Given the description of an element on the screen output the (x, y) to click on. 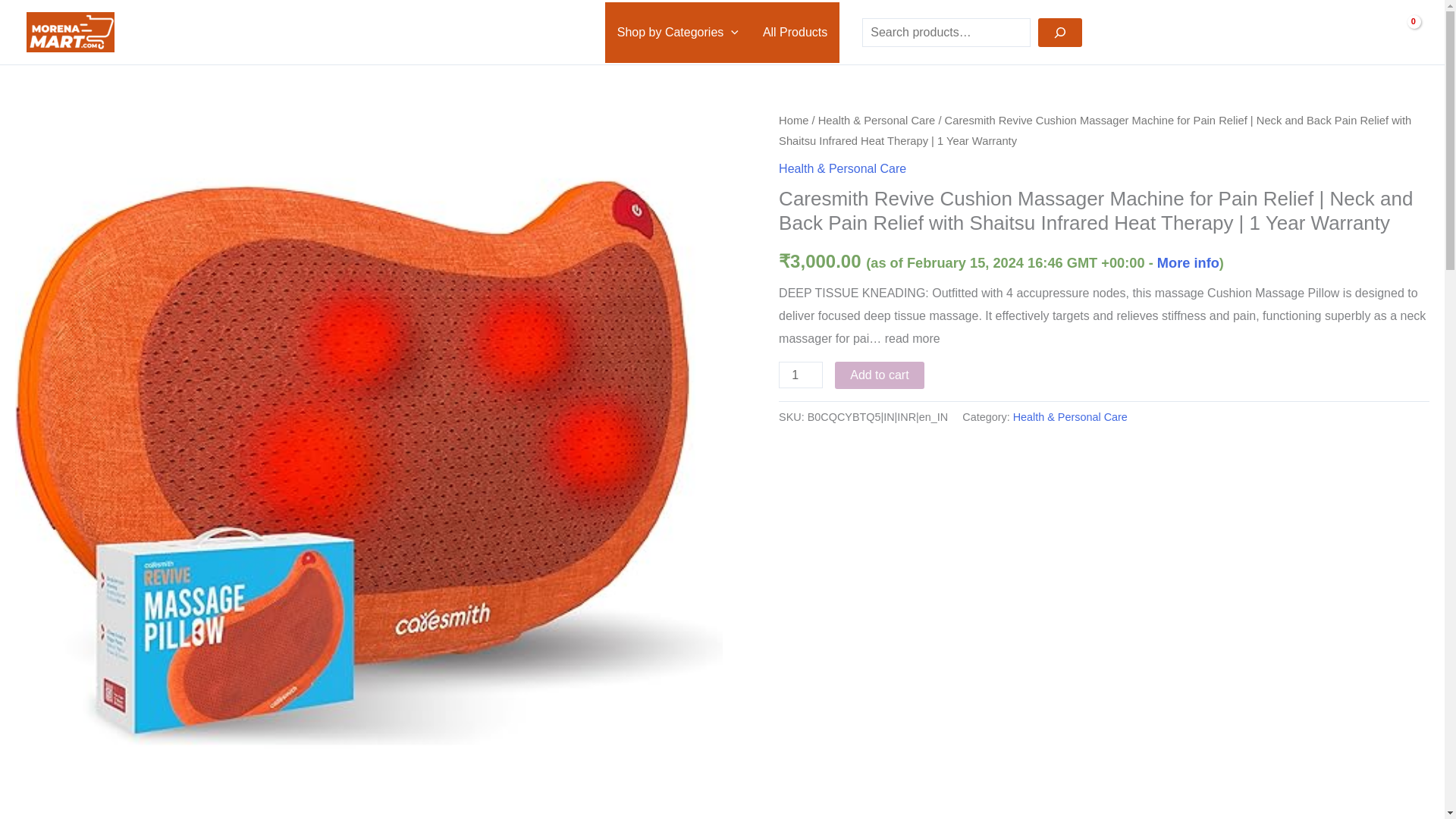
All Products (795, 31)
Shop by Categories (678, 31)
1 (800, 374)
